Given the description of an element on the screen output the (x, y) to click on. 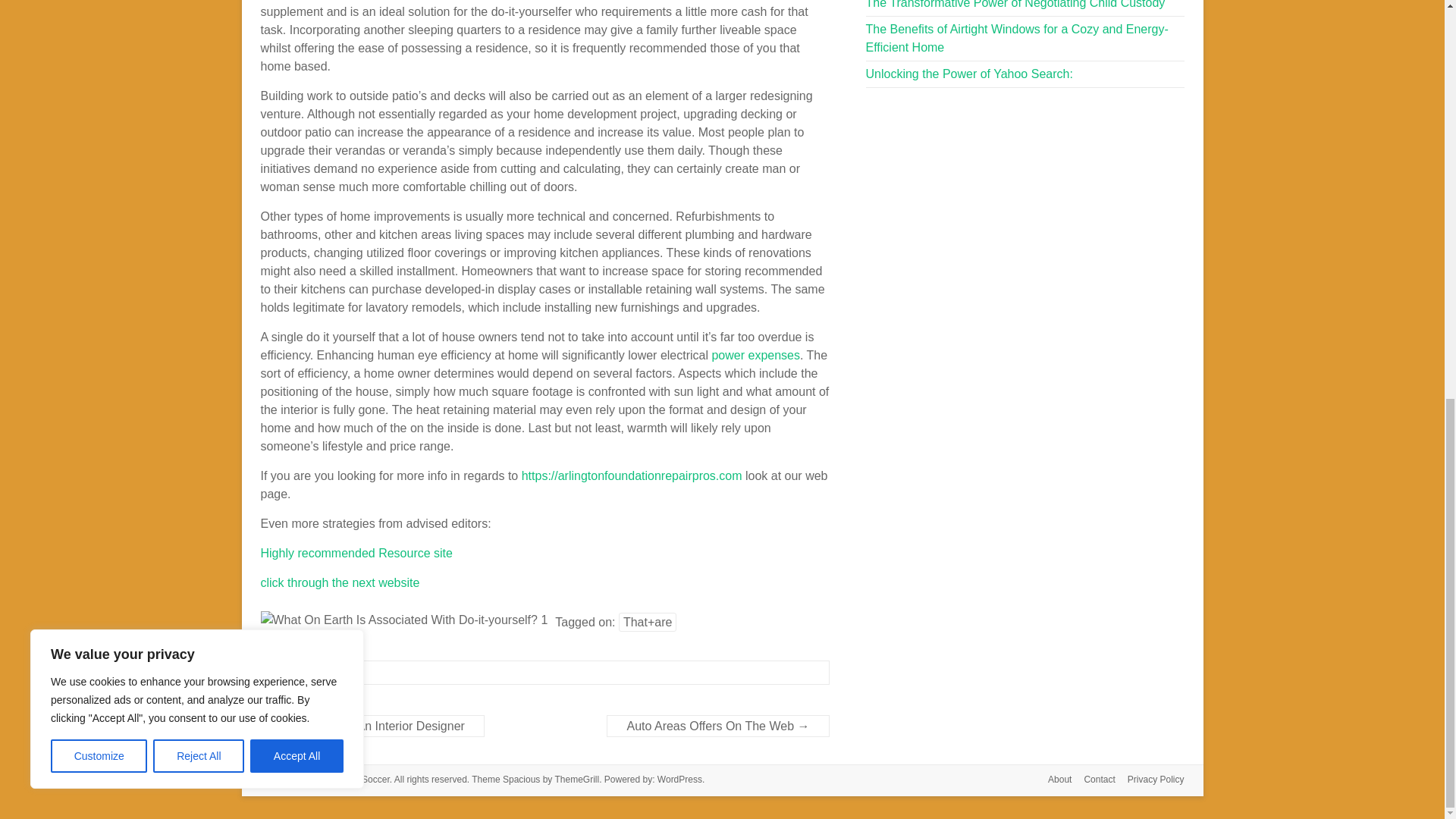
power expenses (755, 354)
Highly recommended Resource site (356, 553)
click through the next website (340, 582)
Friday Soccer (360, 778)
WordPress (679, 778)
General (301, 672)
Spacious (521, 778)
